Given the description of an element on the screen output the (x, y) to click on. 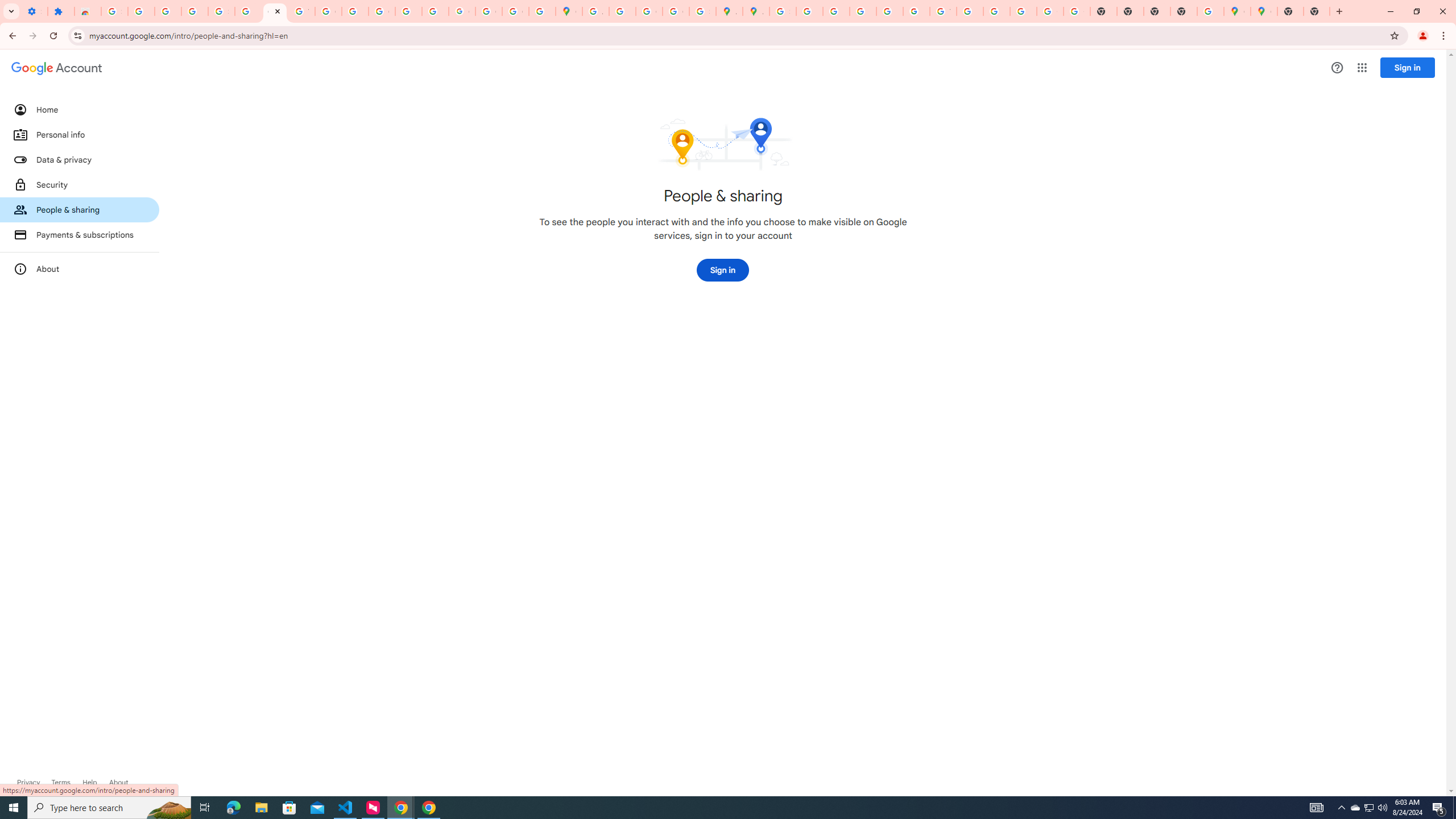
Sign in - Google Accounts (114, 11)
